Given the description of an element on the screen output the (x, y) to click on. 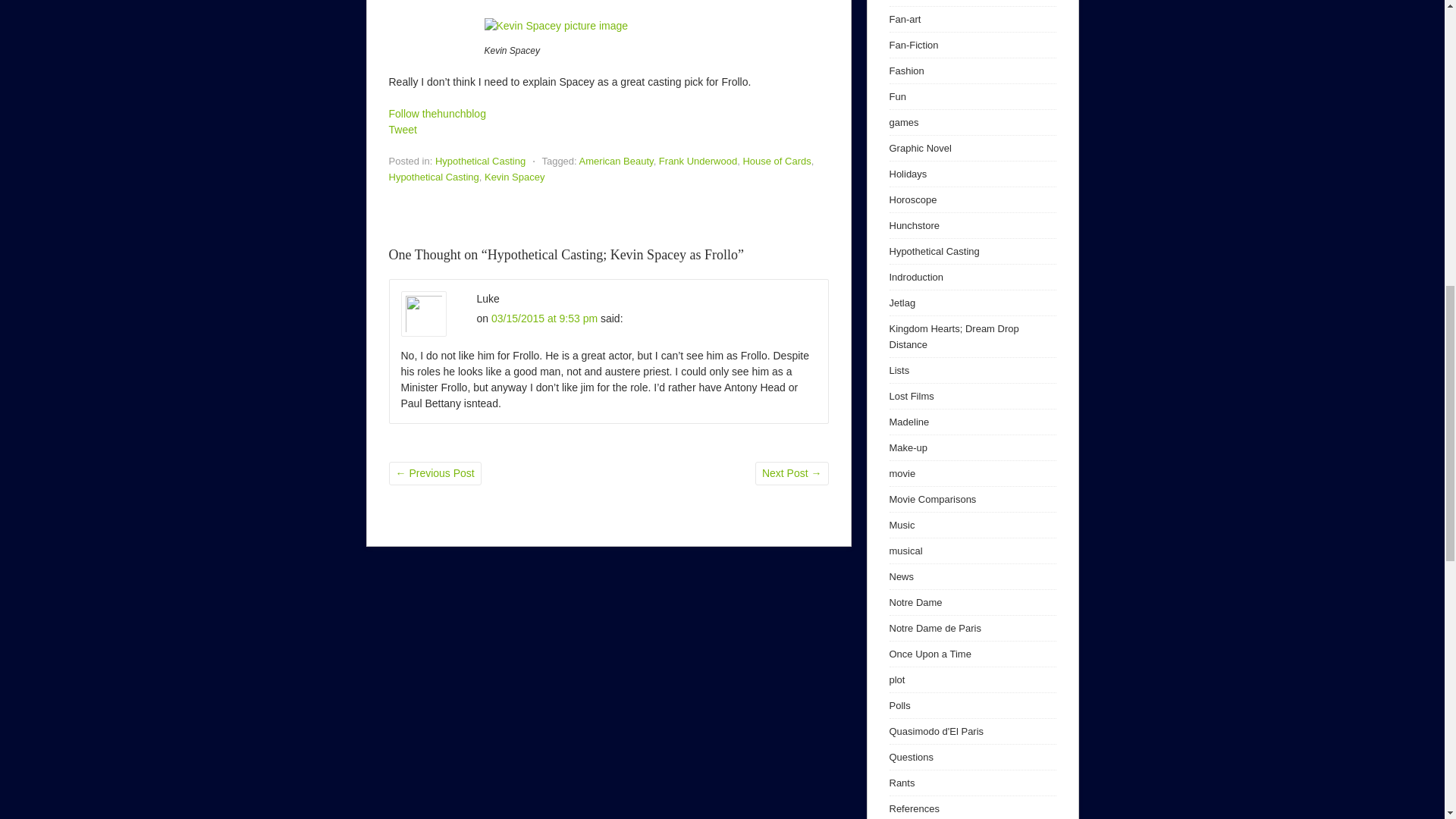
Follow thehunchblog (436, 113)
Kevin Spacey (514, 176)
House of Cards (776, 161)
Frank Underwood (697, 161)
Hypothetical Casting (433, 176)
Tweet (402, 129)
American Beauty (616, 161)
Hypothetical Casting (480, 161)
